Given the description of an element on the screen output the (x, y) to click on. 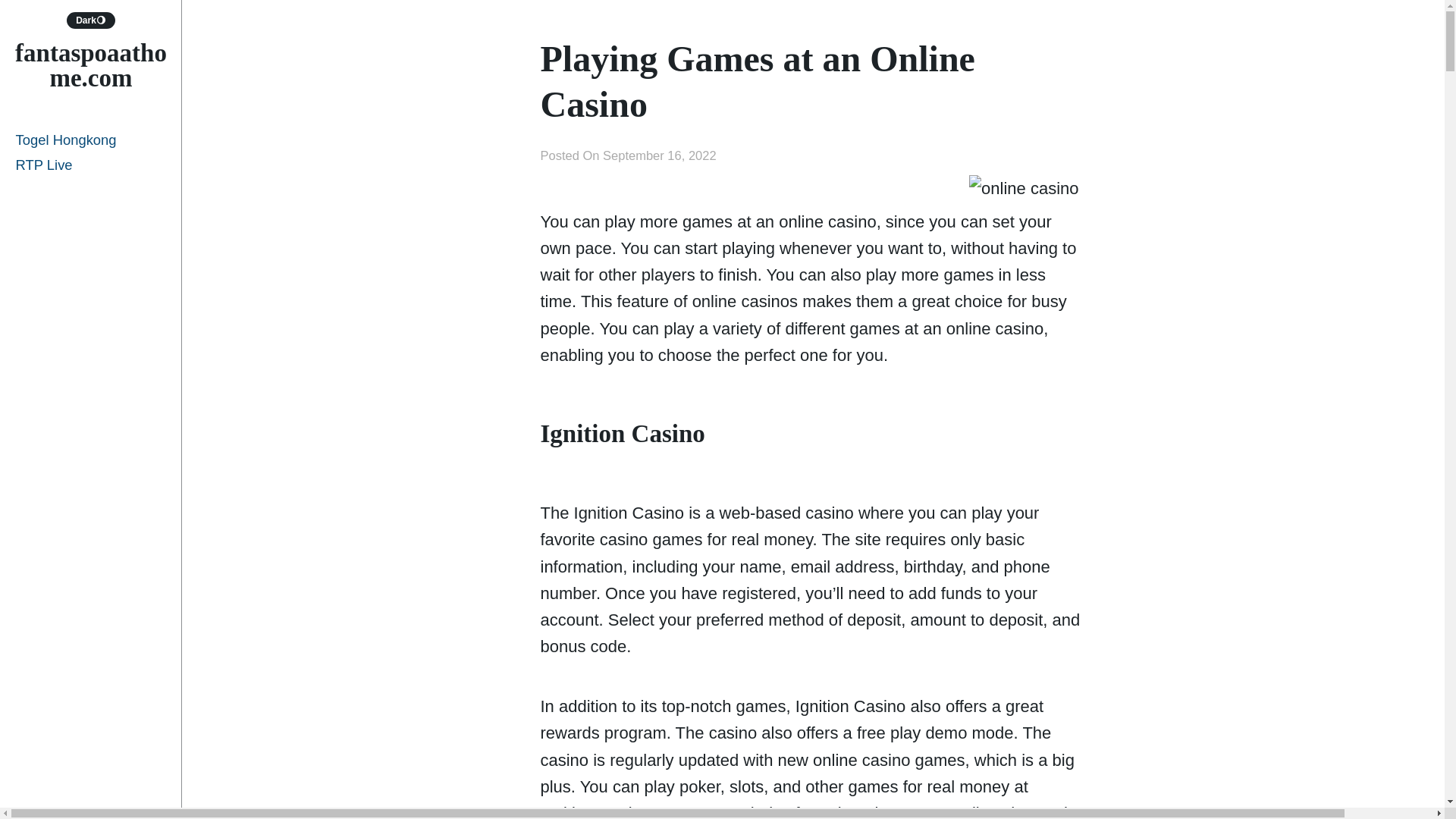
RTP Live (90, 164)
Togel Hongkong (90, 139)
fantaspoaathome.com (90, 65)
